Given the description of an element on the screen output the (x, y) to click on. 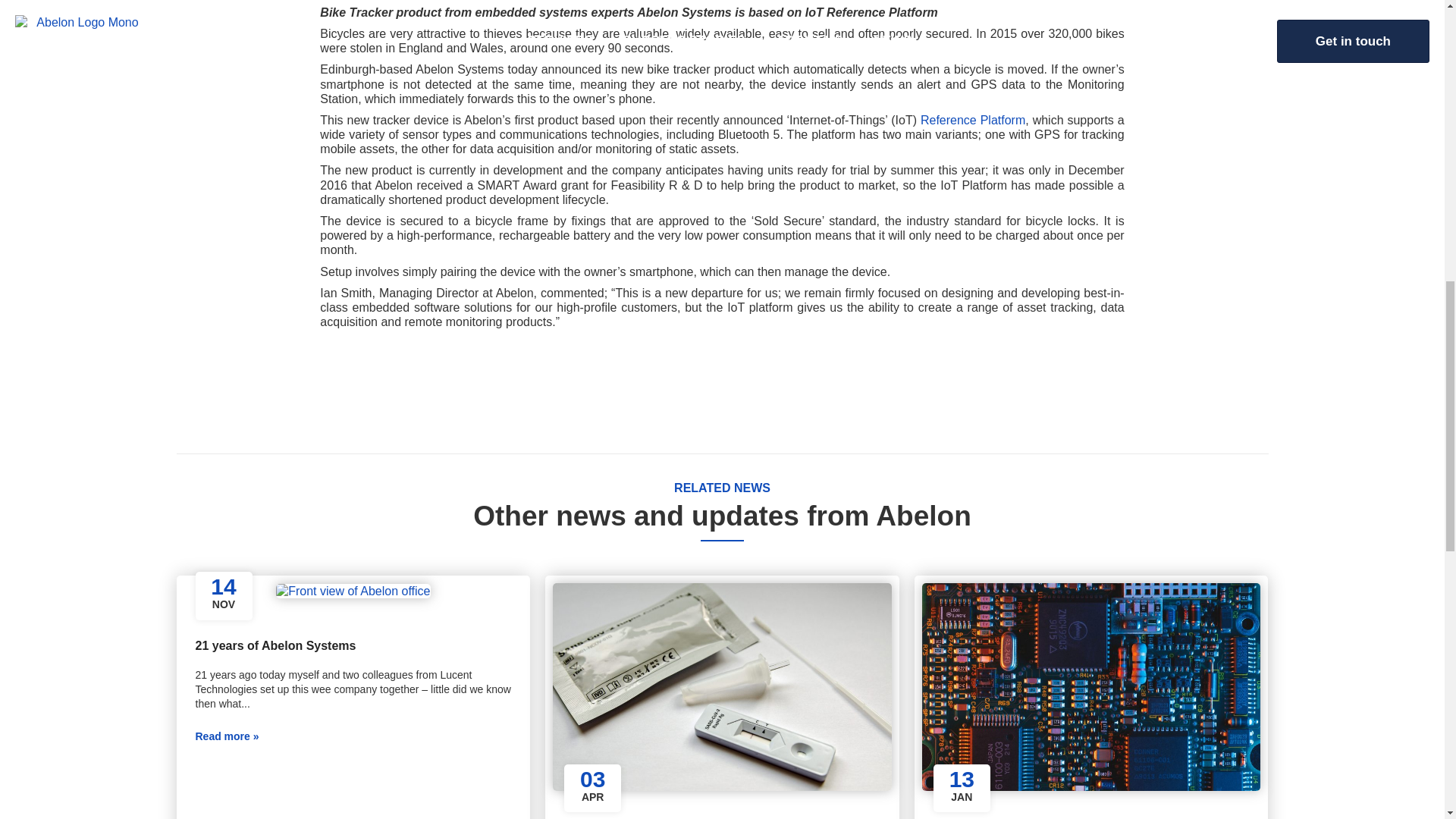
umberto-jXd2FSvcRr8-unsplash (1090, 687)
Riccarton Office Front 1 (352, 590)
covid-lateral-flow-kit (722, 687)
